Given the description of an element on the screen output the (x, y) to click on. 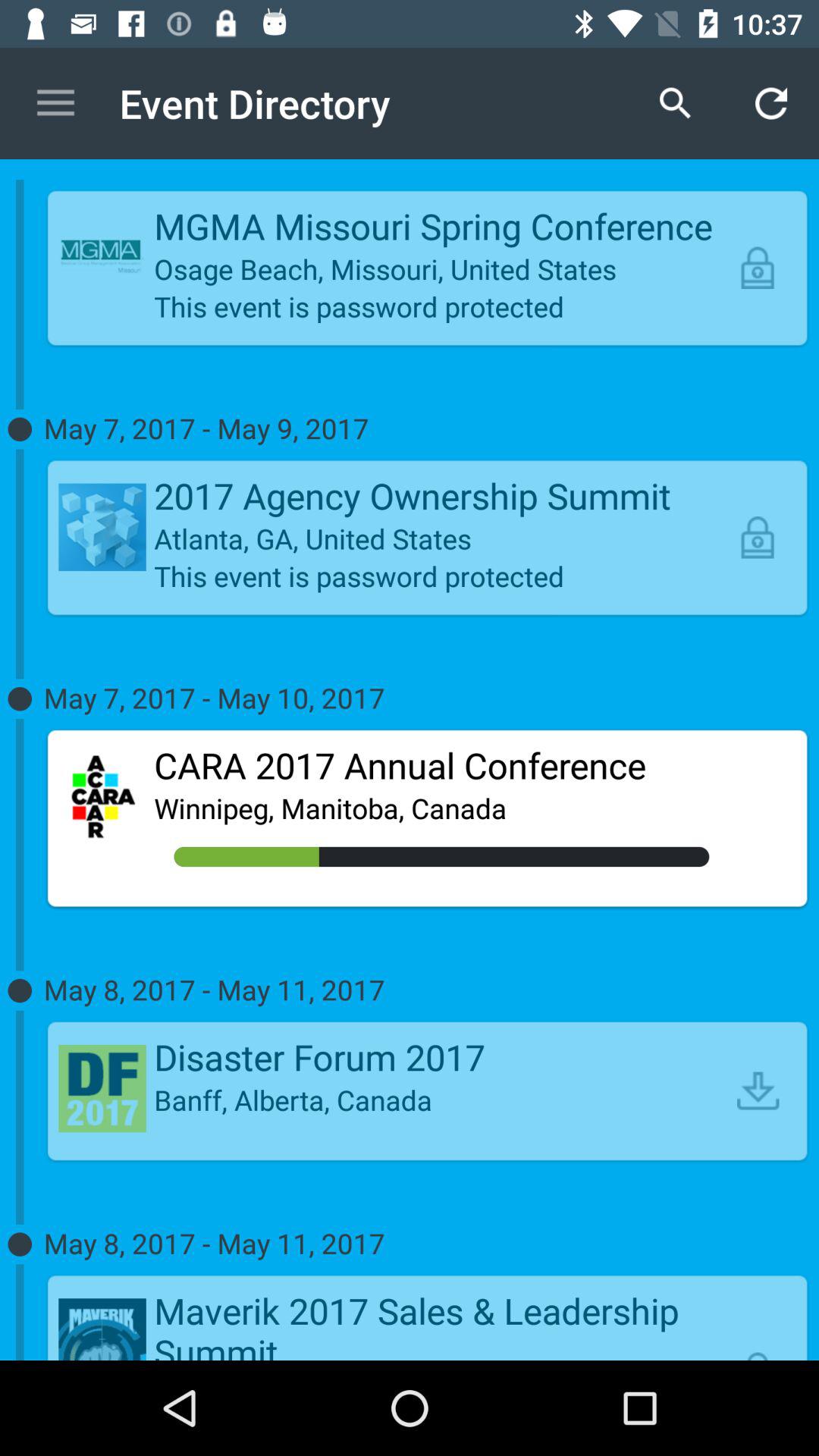
click disaster forum 2017 icon (441, 1056)
